Given the description of an element on the screen output the (x, y) to click on. 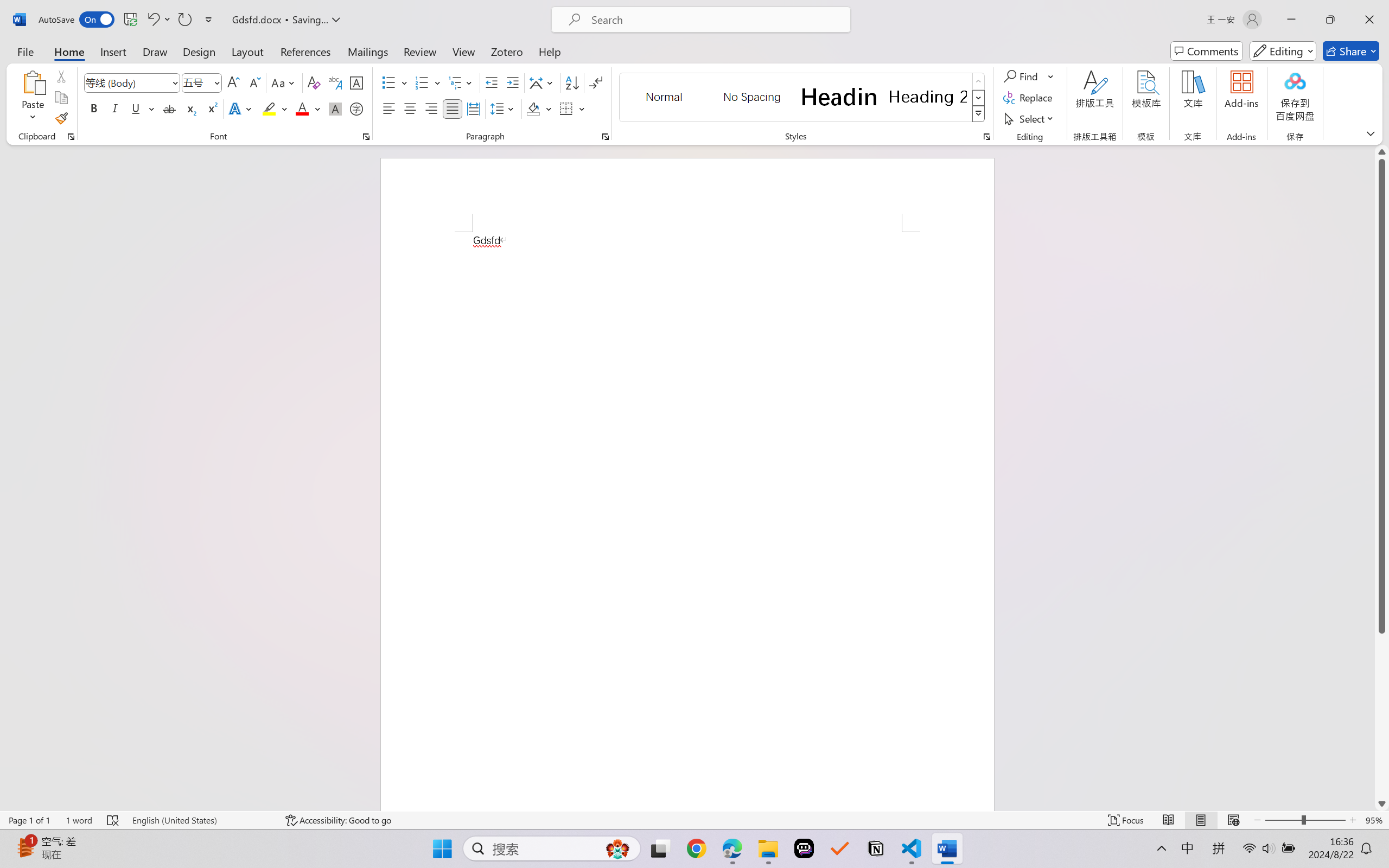
Page 1 content (687, 521)
Repeat Style (184, 19)
Italic (115, 108)
Multilevel List (461, 82)
Class: NetUIScrollBar (1382, 477)
Zoom 95% (1374, 819)
